Given the description of an element on the screen output the (x, y) to click on. 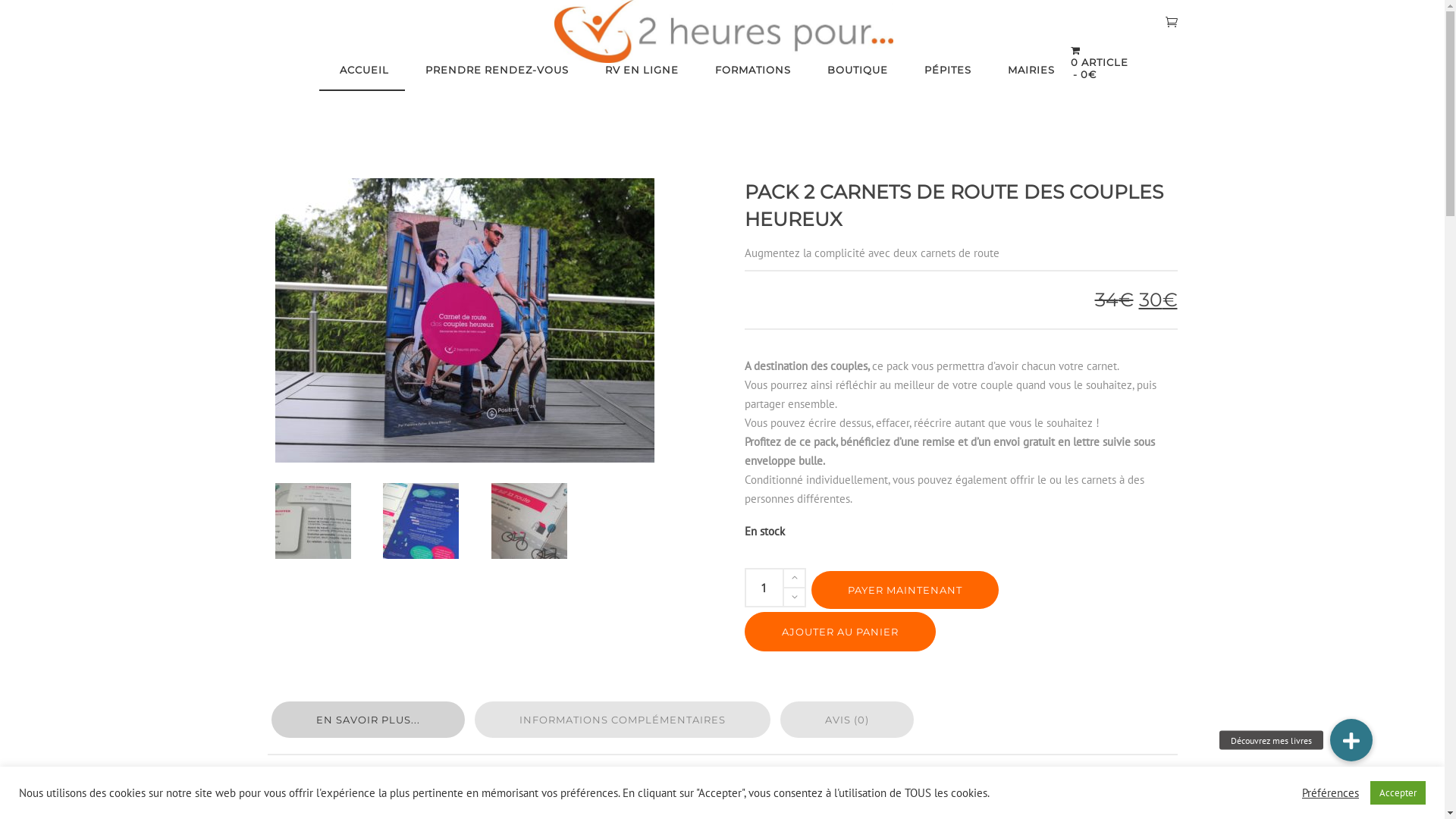
PRENDRE RENDEZ-VOUS Element type: text (494, 68)
Qty Element type: hover (764, 587)
MAIRIES Element type: text (1028, 68)
Facebook Element type: hover (1425, 391)
AVIS (0) Element type: text (846, 719)
FORMATIONS Element type: text (750, 68)
AJOUTER AU PANIER Element type: text (839, 631)
BOUTIQUE Element type: text (854, 68)
Accepter Element type: text (1397, 792)
EN SAVOIR PLUS... Element type: text (367, 719)
RV EN LIGNE Element type: text (639, 68)
ACCUEIL Element type: text (361, 68)
Suivez-nous Element type: hover (1425, 427)
PAYER MAINTENANT Element type: text (904, 589)
U Element type: text (1023, 418)
